Given the description of an element on the screen output the (x, y) to click on. 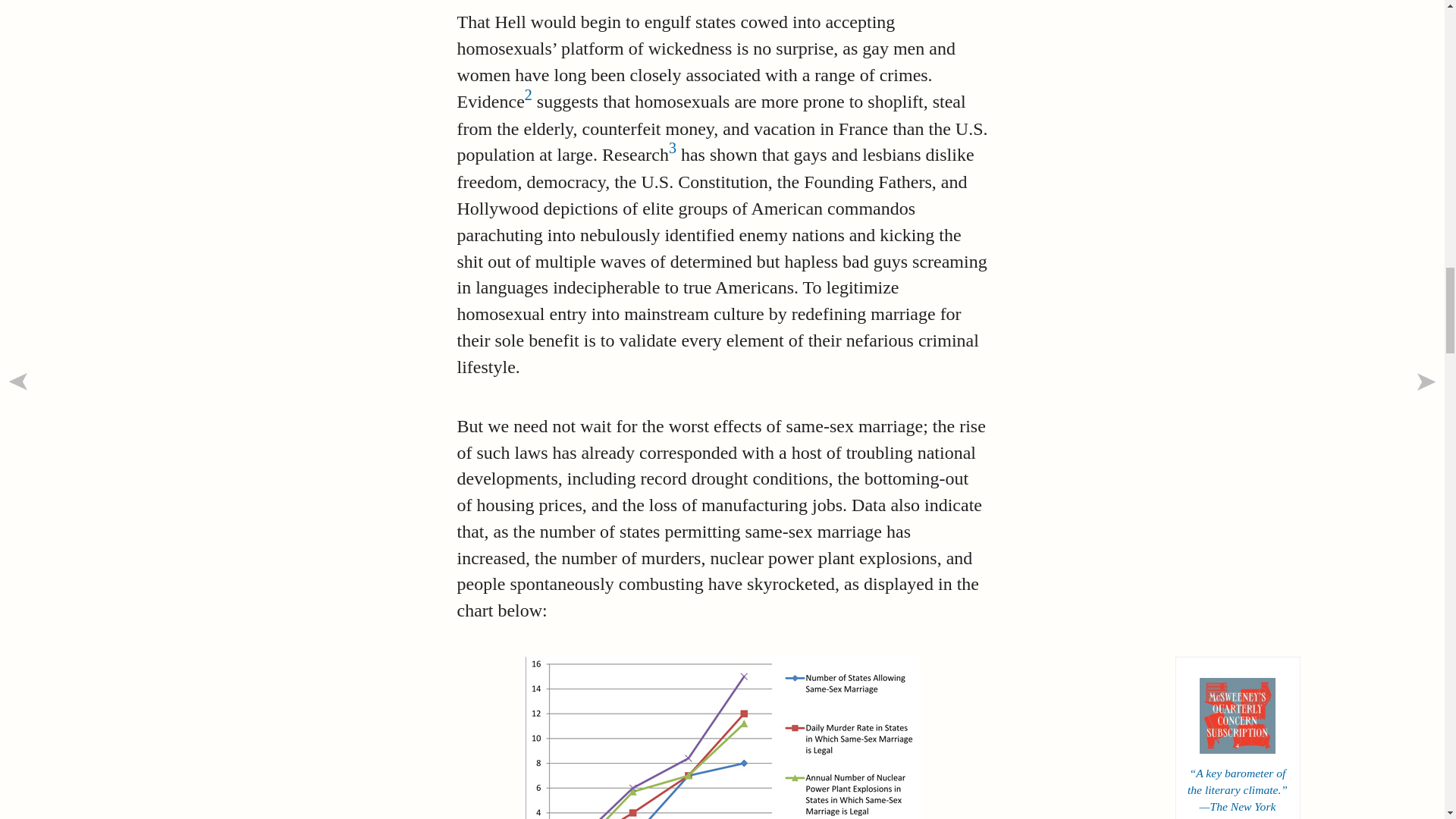
3 (672, 147)
2 (528, 94)
